Given the description of an element on the screen output the (x, y) to click on. 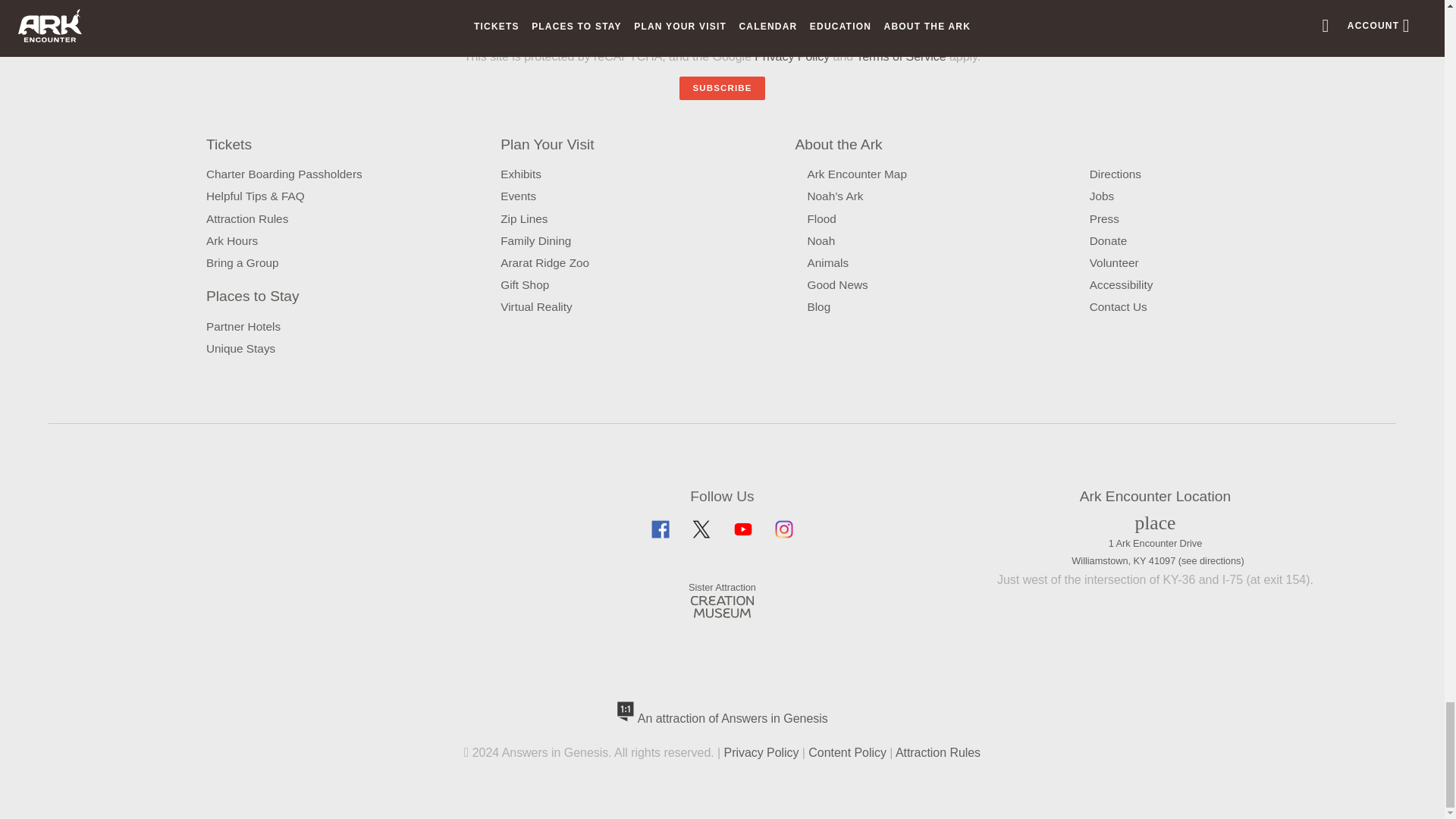
Terms of Service (900, 56)
Privacy Policy (791, 56)
Privacy Policy (792, 20)
